Given the description of an element on the screen output the (x, y) to click on. 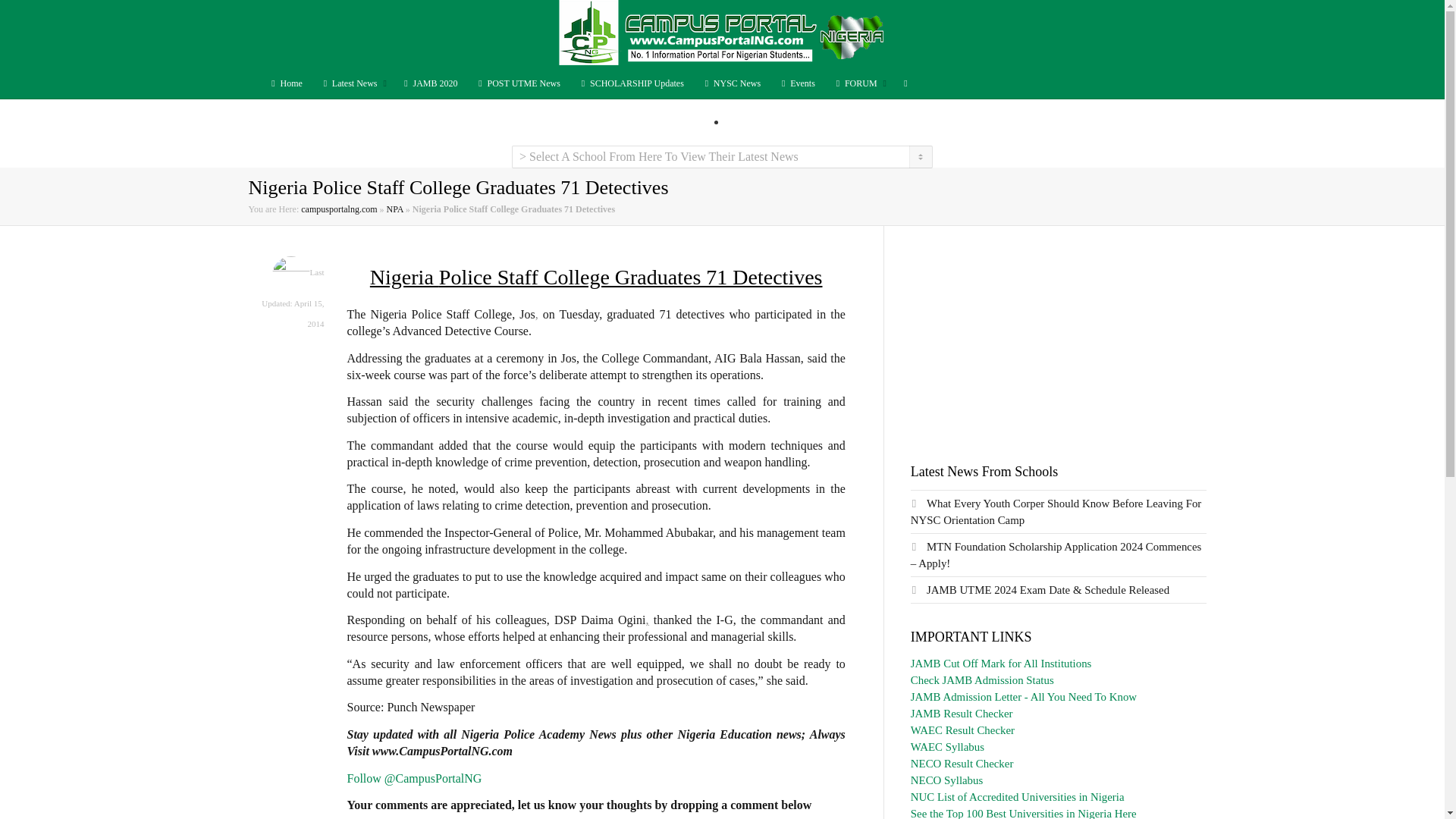
Available Students Scholarships (631, 82)
FORUM (857, 82)
JAMB Result Checker (962, 713)
Home (284, 82)
POST UTME News (518, 82)
NPA (395, 208)
JAMB 2020 (429, 82)
Latest JAMB News (429, 82)
Campus Portal Nigeria (721, 32)
JAMB Cut Off Mark for All Institutions (1001, 663)
Events (796, 82)
Advertisement (1059, 332)
WAEC Result Checker (962, 729)
WAEC Syllabus (947, 746)
